Given the description of an element on the screen output the (x, y) to click on. 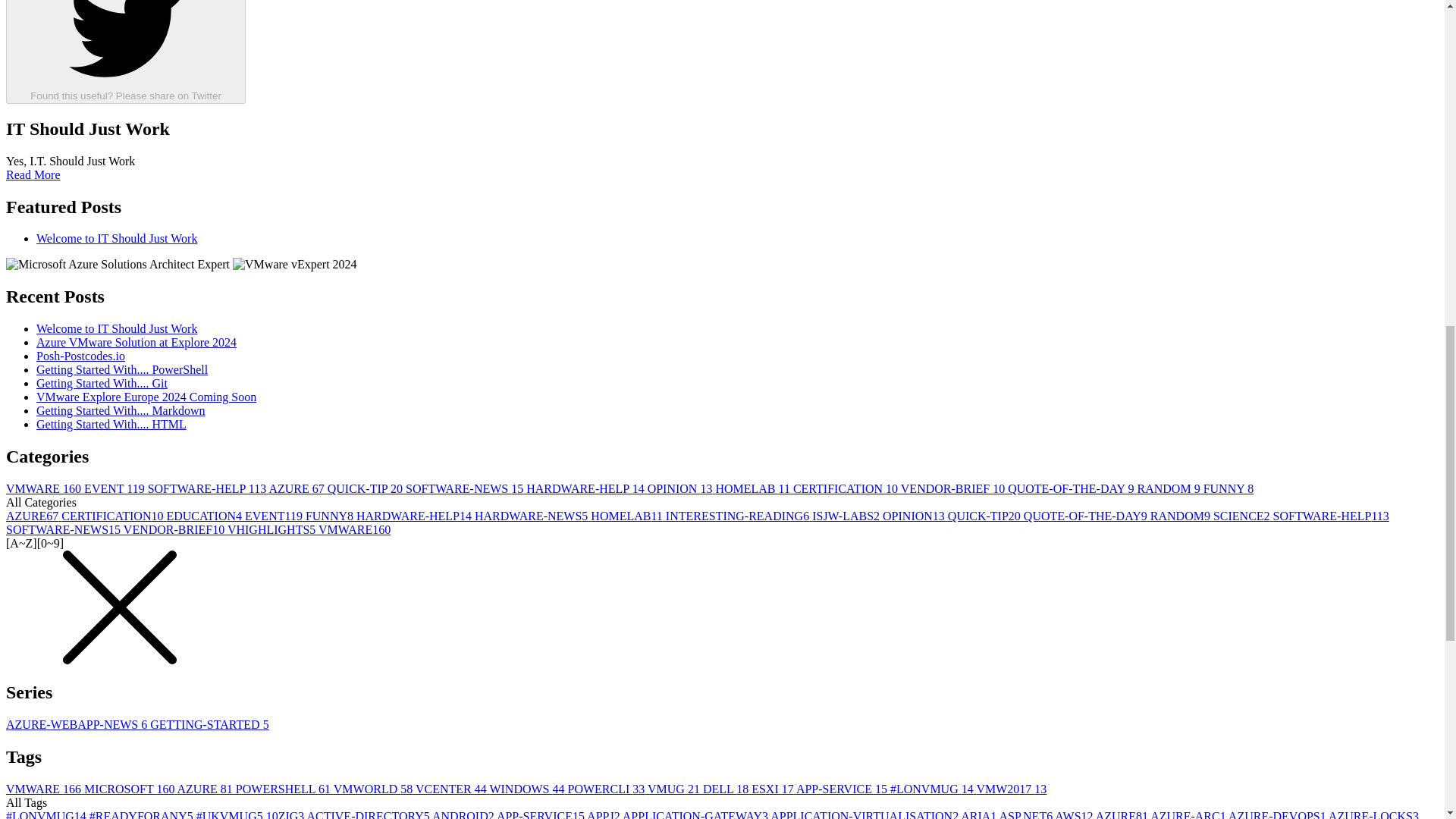
Getting Started With.... Git (101, 382)
twitter (125, 43)
QUICK-TIP 20 (366, 488)
Getting Started With.... HTML (111, 423)
Read More (33, 174)
Posh-Postcodes.io (80, 355)
Azure VMware Solution at Explore 2024 (135, 341)
SOFTWARE-NEWS 15 (465, 488)
HARDWARE-HELP 14 (585, 488)
AZURE 67 (296, 488)
